Given the description of an element on the screen output the (x, y) to click on. 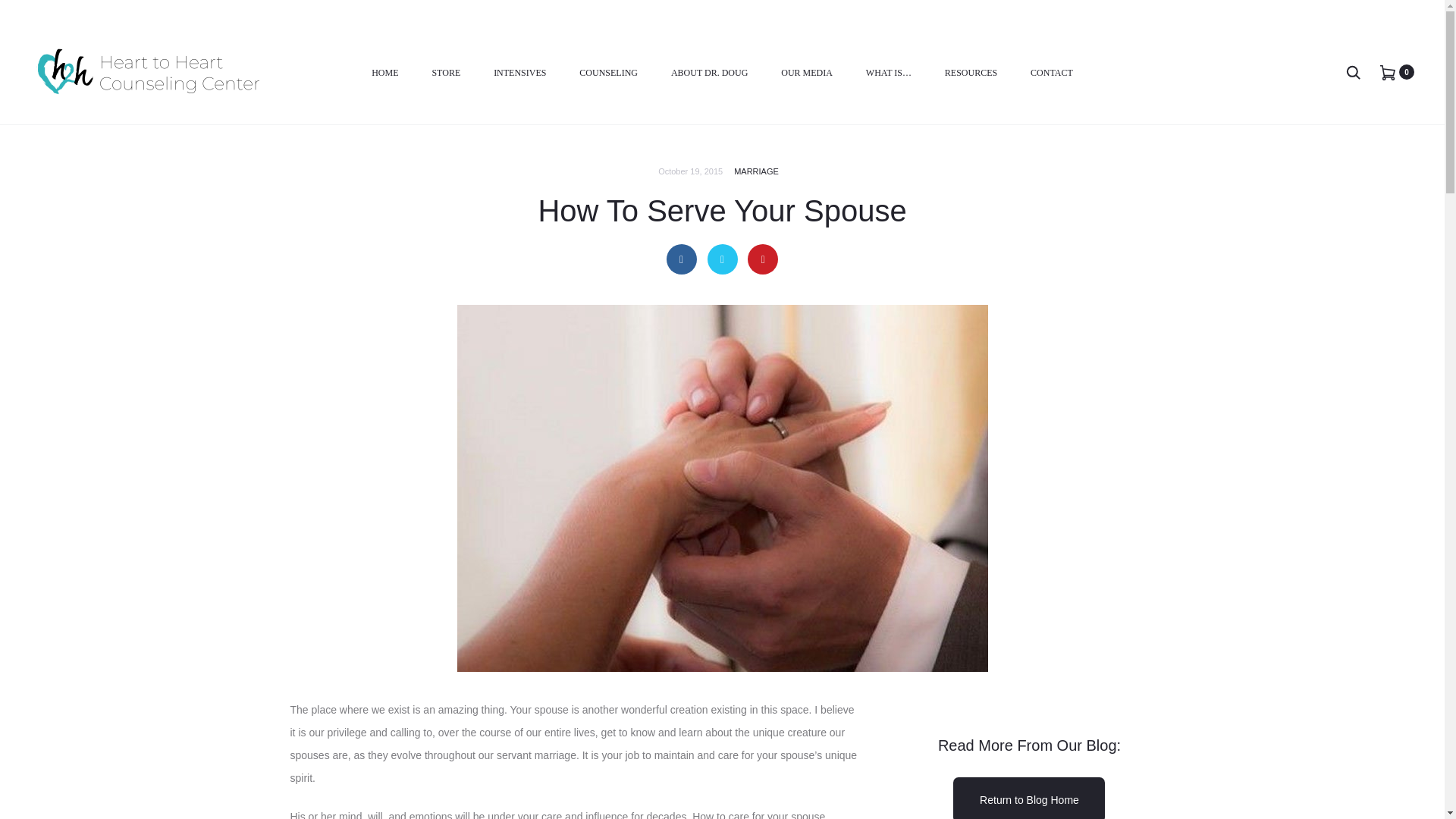
HOME (384, 73)
RESOURCES (970, 73)
COUNSELING (608, 73)
STORE (445, 73)
OUR MEDIA (806, 73)
ABOUT DR. DOUG (709, 73)
INTENSIVES (519, 73)
